Given the description of an element on the screen output the (x, y) to click on. 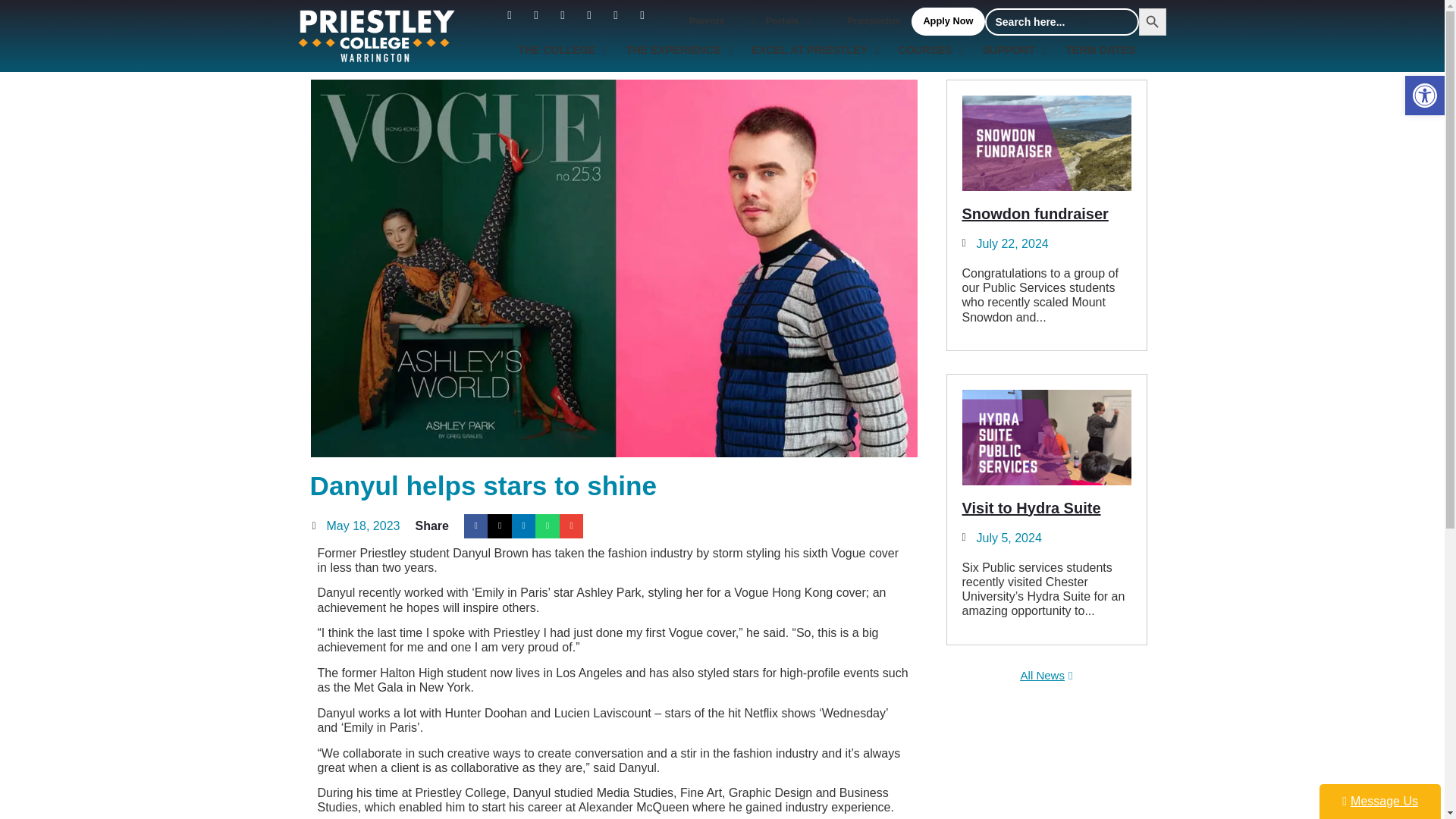
Search Button (1152, 22)
Parents (697, 21)
Accessibility Tools (1424, 95)
Prospectus (863, 21)
Portals (777, 21)
Apply Now (947, 21)
THE COLLEGE (560, 50)
